Given the description of an element on the screen output the (x, y) to click on. 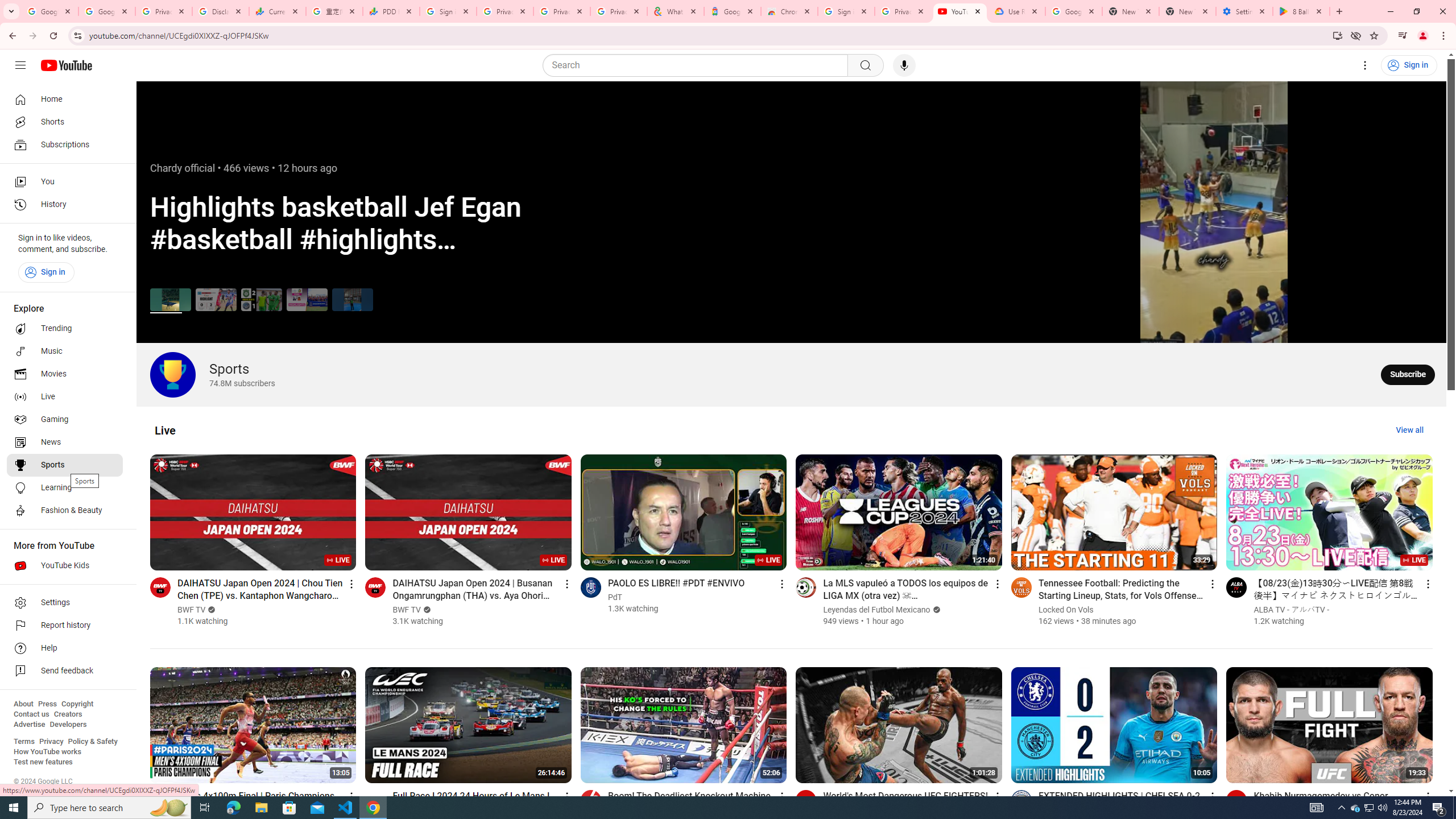
Bidanasi Club vs Sports Odisha | Match Highlights (215, 299)
Test new features (42, 761)
Movies (64, 373)
History (64, 204)
YouTube (959, 11)
PDD Holdings Inc - ADR (PDD) Price & News - Google Finance (391, 11)
Report history (64, 625)
PAOLO ES LIBRE!! #PDT #ENVIVO by PdT 2,268 views (676, 582)
